Given the description of an element on the screen output the (x, y) to click on. 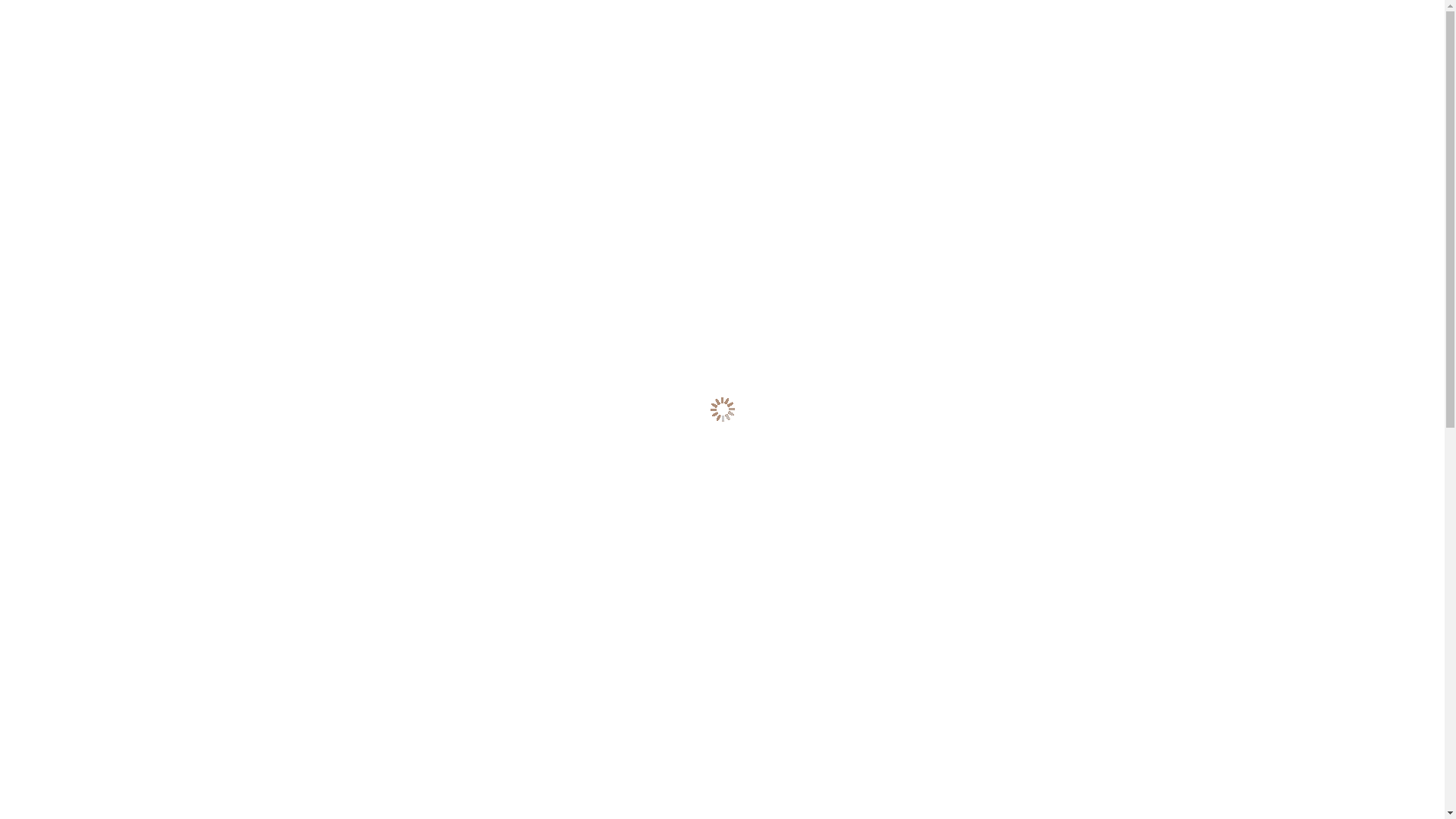
Fotoqalereya Element type: text (968, 207)
+994 (55) 500 71 00 Element type: text (1009, 141)
AZ Element type: text (1129, 9)
Check-up Element type: text (841, 207)
